Given the description of an element on the screen output the (x, y) to click on. 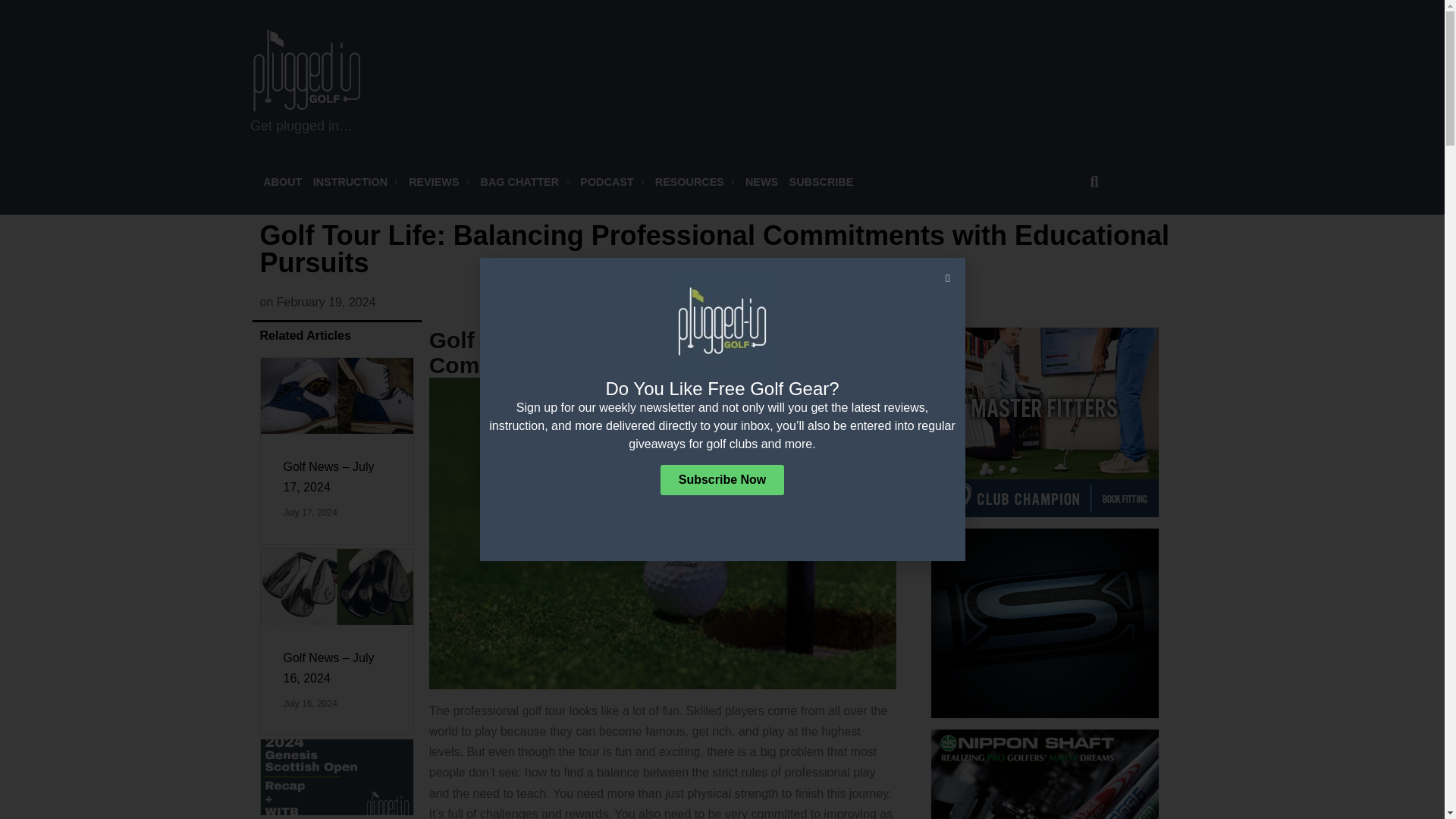
INSTRUCTION (355, 181)
REVIEWS (438, 181)
search-button (1093, 182)
Plugged-In-Golf-White-on-Blue-e1597419240829 (307, 70)
BAG CHATTER (524, 181)
ABOUT (282, 181)
